Given the description of an element on the screen output the (x, y) to click on. 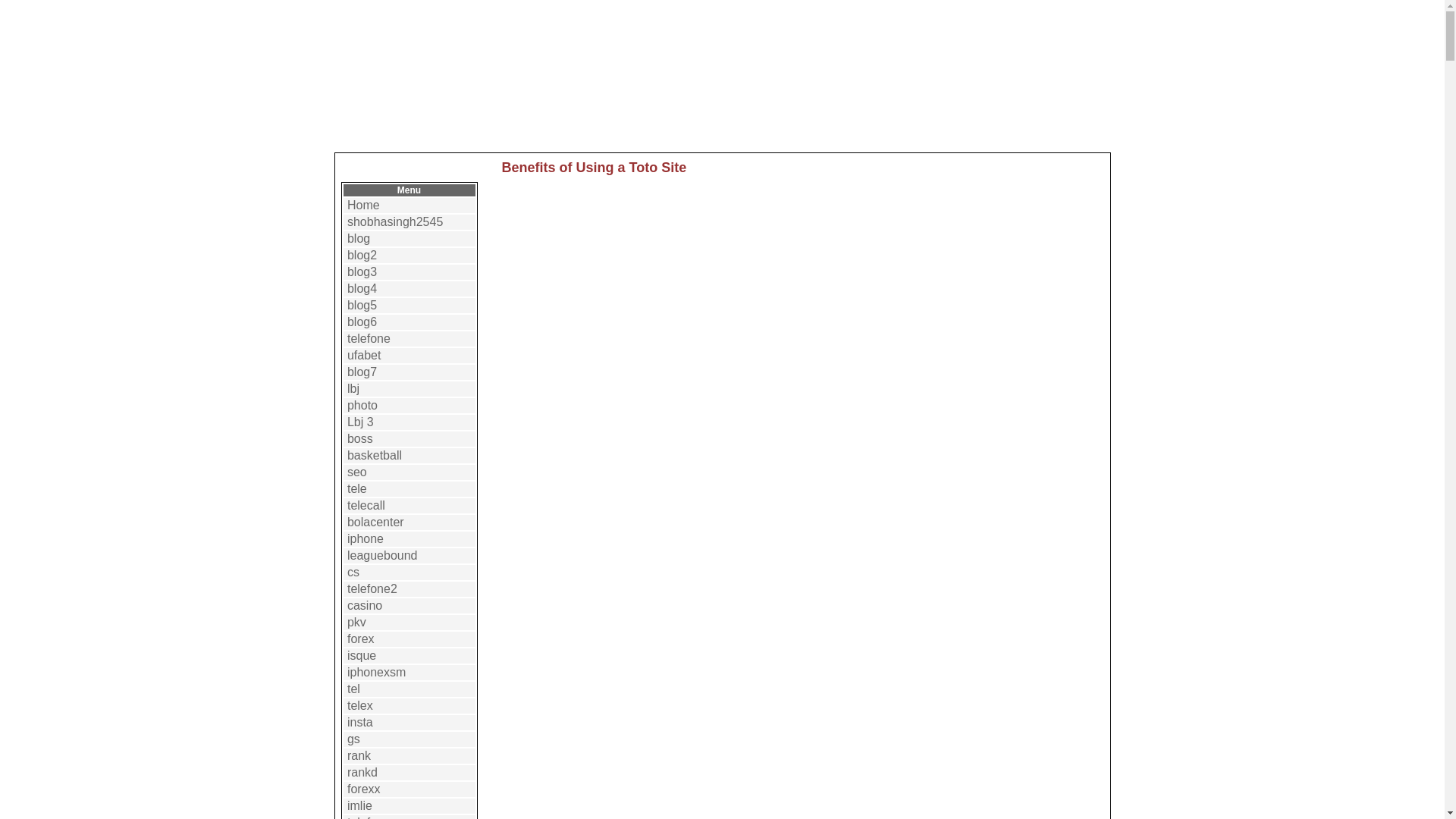
Lbj 3 (360, 421)
blog7 (362, 371)
telex (359, 705)
insta (359, 721)
telefone2 (372, 588)
blog4 (362, 287)
blog5 (362, 305)
telefono (368, 817)
blog (358, 237)
shobhasingh2545 (394, 221)
